Given the description of an element on the screen output the (x, y) to click on. 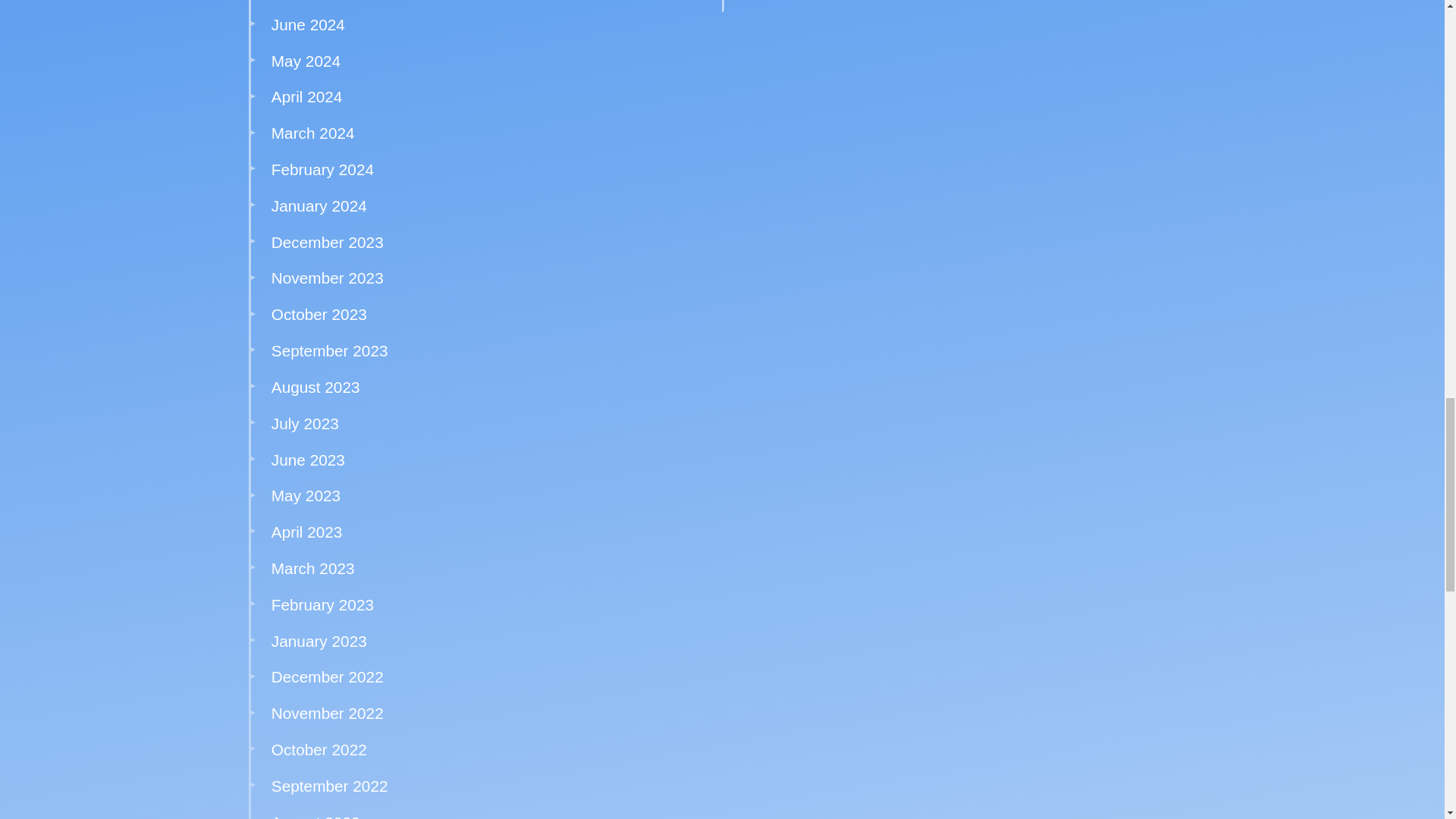
July 2023 (304, 423)
December 2022 (327, 676)
October 2023 (318, 313)
June 2023 (307, 459)
September 2022 (329, 785)
May 2023 (305, 495)
December 2023 (327, 241)
January 2024 (318, 205)
May 2024 (305, 60)
September 2023 (329, 350)
